Given the description of an element on the screen output the (x, y) to click on. 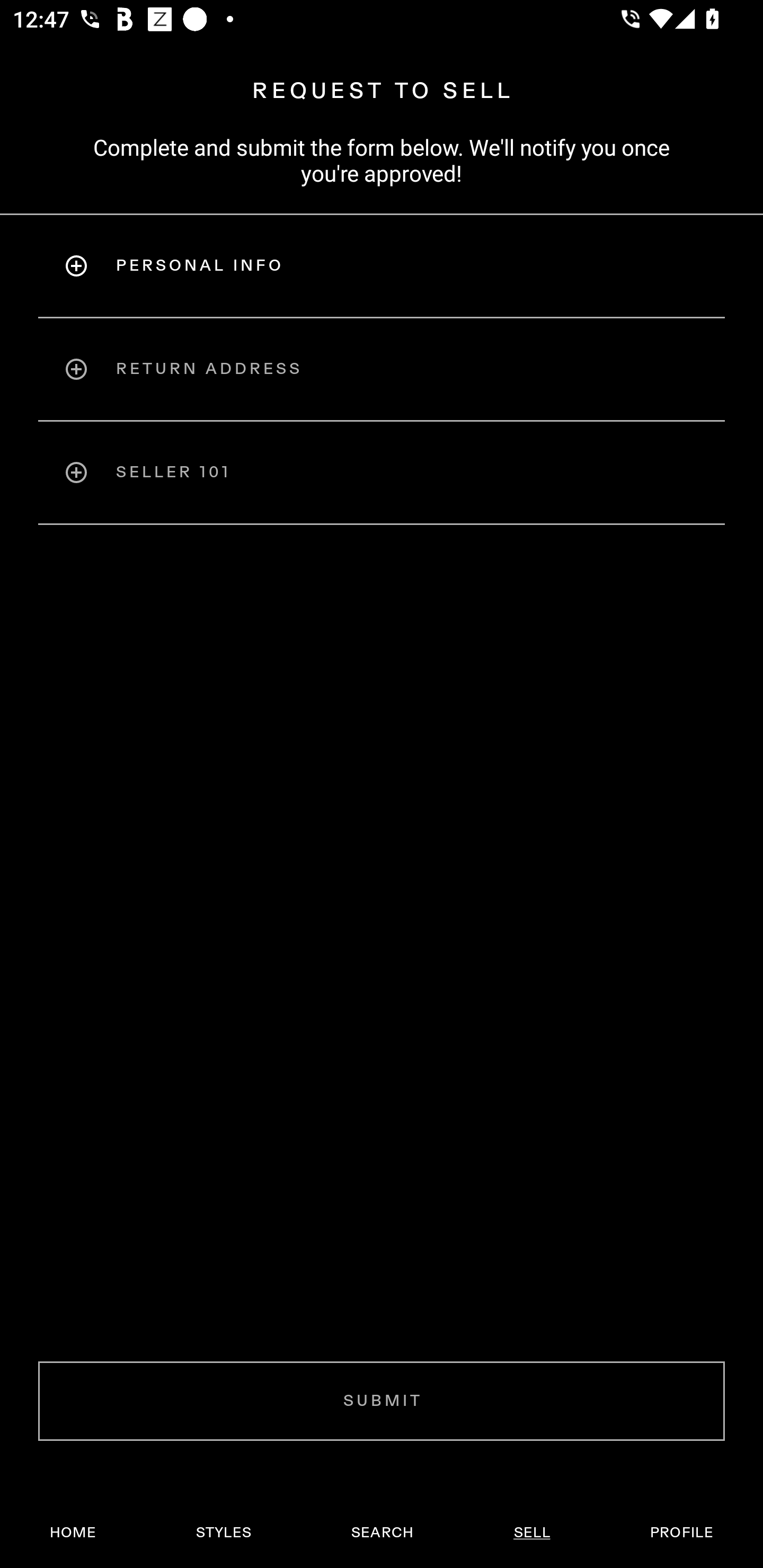
PERSONAL INFO (381, 265)
RETURN ADDRESS (381, 369)
SELLER 101 (381, 472)
SUBMIT (381, 1400)
HOME (72, 1532)
STYLES (222, 1532)
SEARCH (381, 1532)
SELL (531, 1532)
PROFILE (681, 1532)
